Given the description of an element on the screen output the (x, y) to click on. 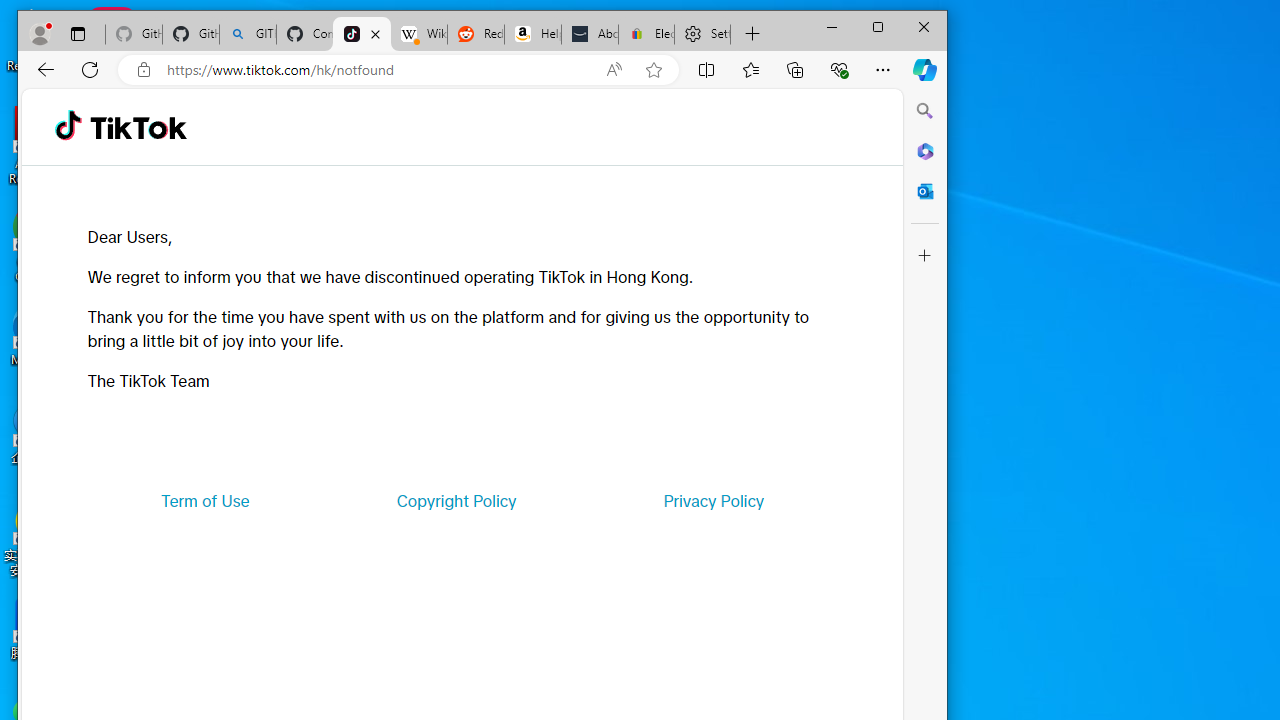
Term of Use (205, 500)
Privacy Policy (713, 500)
Copyright Policy (456, 500)
